Given the description of an element on the screen output the (x, y) to click on. 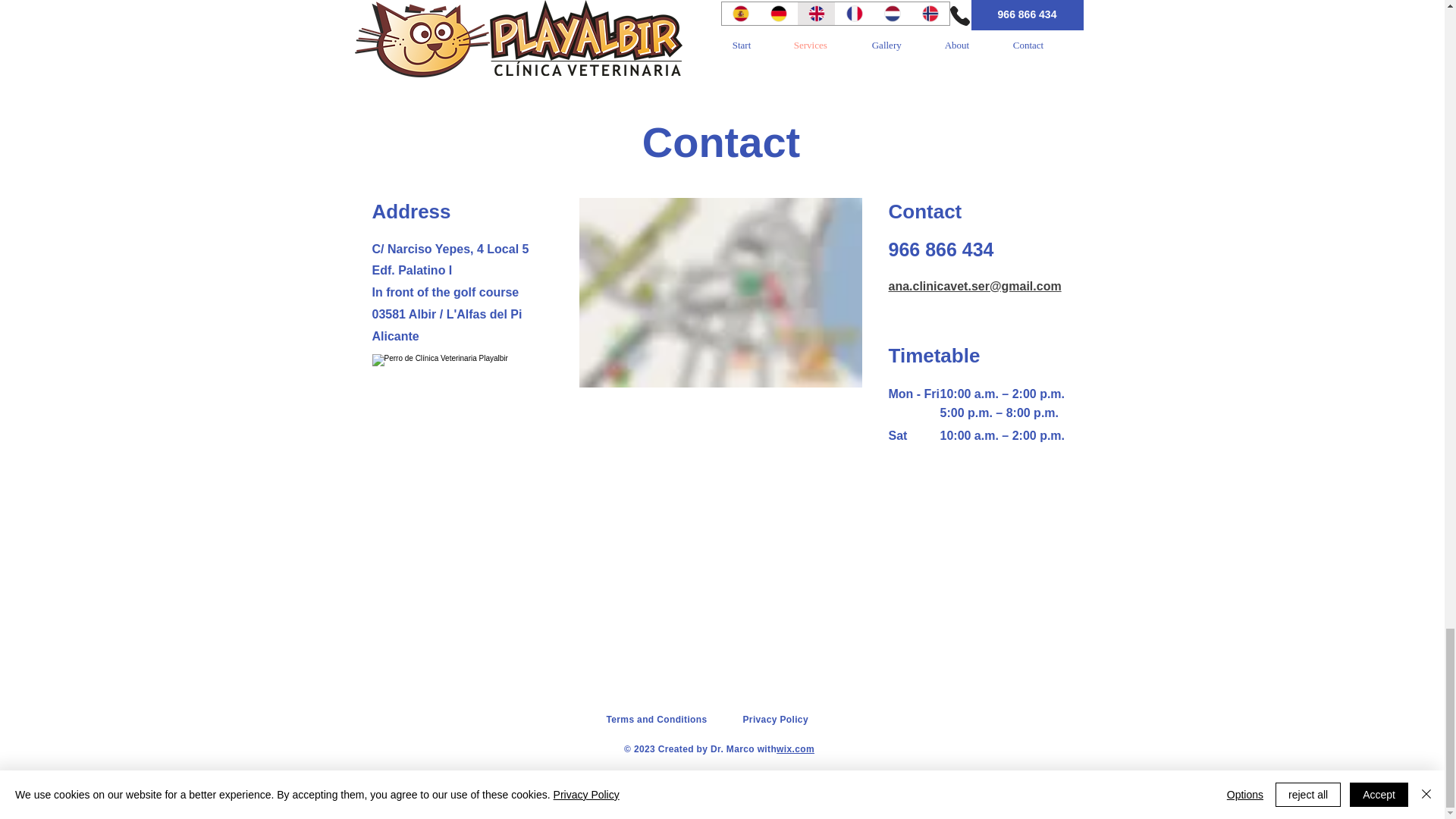
Privacy Policy (775, 719)
wix.com (794, 748)
Privacy Policy (782, 784)
Legal warning (857, 784)
Terms and Conditions (657, 719)
